Given the description of an element on the screen output the (x, y) to click on. 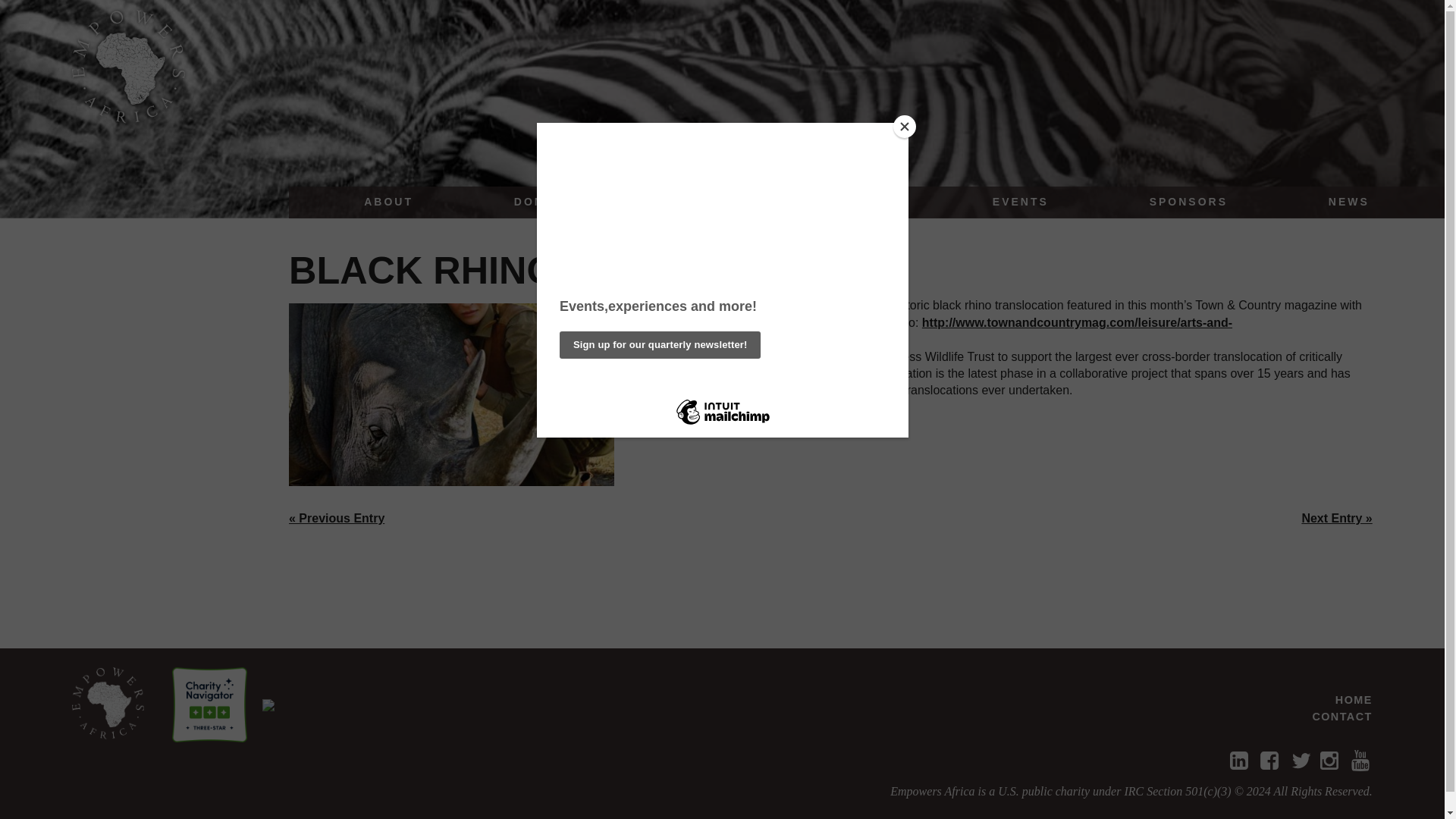
HOME (1354, 699)
DONATE (542, 202)
NEWS (1349, 202)
Empowers Africa (128, 66)
PROJECTS (710, 202)
link to home page (107, 703)
SPONSORS (1188, 202)
CONTACT (1341, 716)
FILMS (869, 202)
ABOUT (388, 202)
EMPOWERS AFRICA (107, 703)
EVENTS (1020, 202)
